Given the description of an element on the screen output the (x, y) to click on. 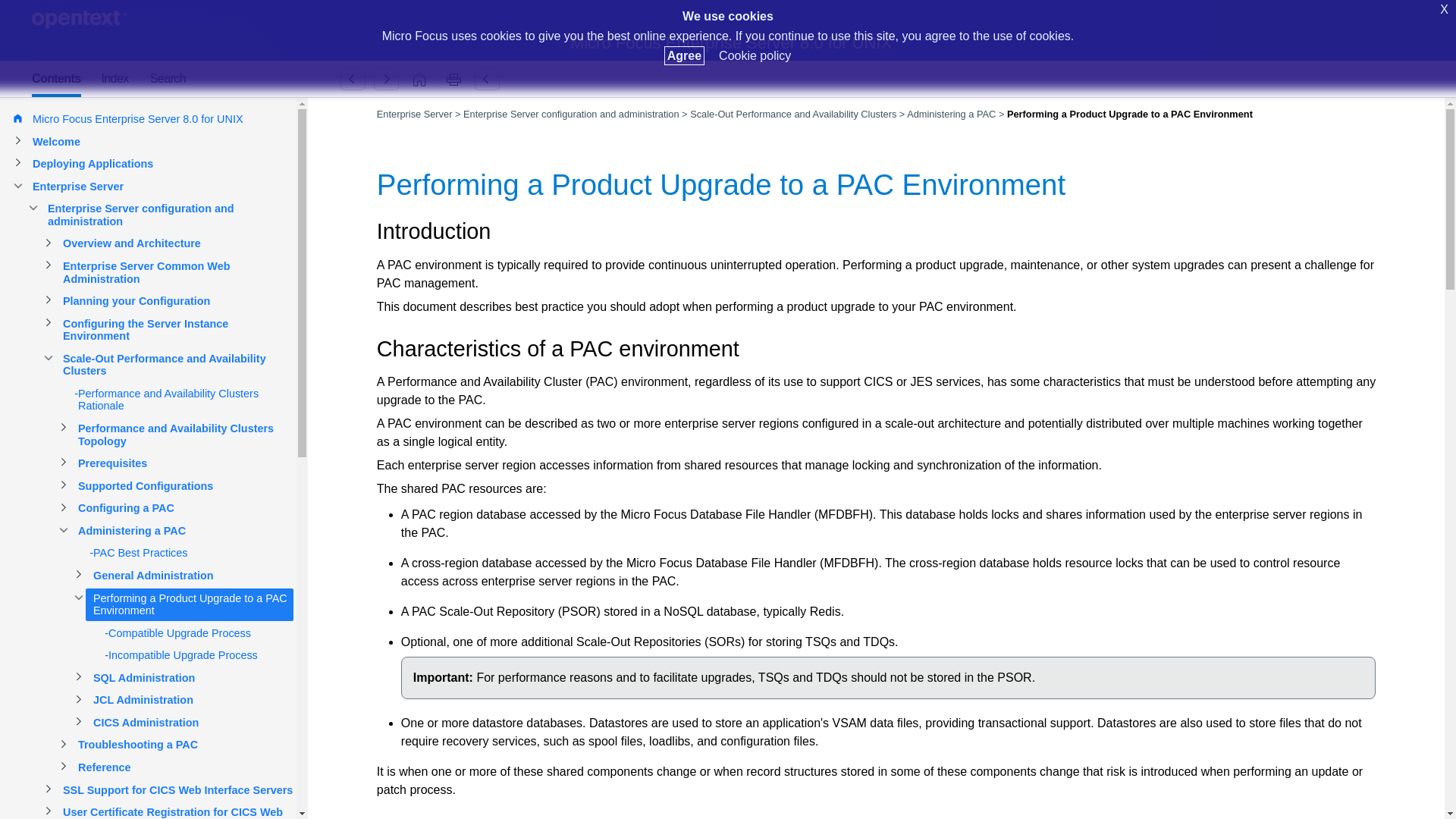
Agree (684, 55)
Cookie policy (754, 55)
Compatible Upgrade Process (386, 78)
Using a PAC with Autoscaling (352, 78)
